Given the description of an element on the screen output the (x, y) to click on. 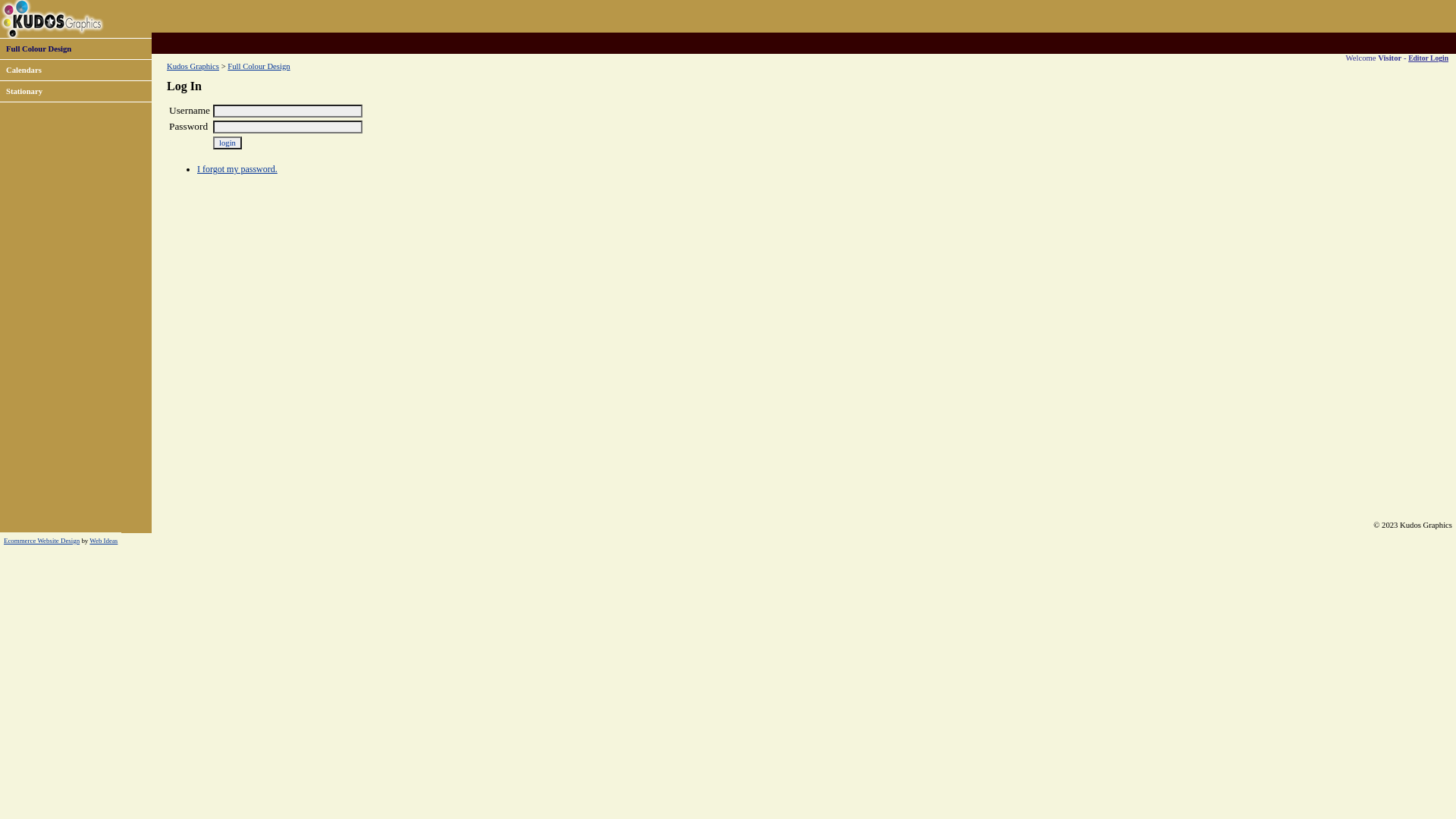
Full Colour Design Element type: text (258, 66)
I forgot my password. Element type: text (237, 168)
Calendars Element type: text (23, 69)
Web Ideas Element type: text (103, 540)
Editor Login Element type: text (1428, 57)
Kudos Graphics Element type: text (192, 66)
login Element type: text (227, 142)
Full Colour Design Element type: text (38, 48)
Ecommerce Website Design Element type: text (41, 540)
Stationary Element type: text (24, 91)
